Given the description of an element on the screen output the (x, y) to click on. 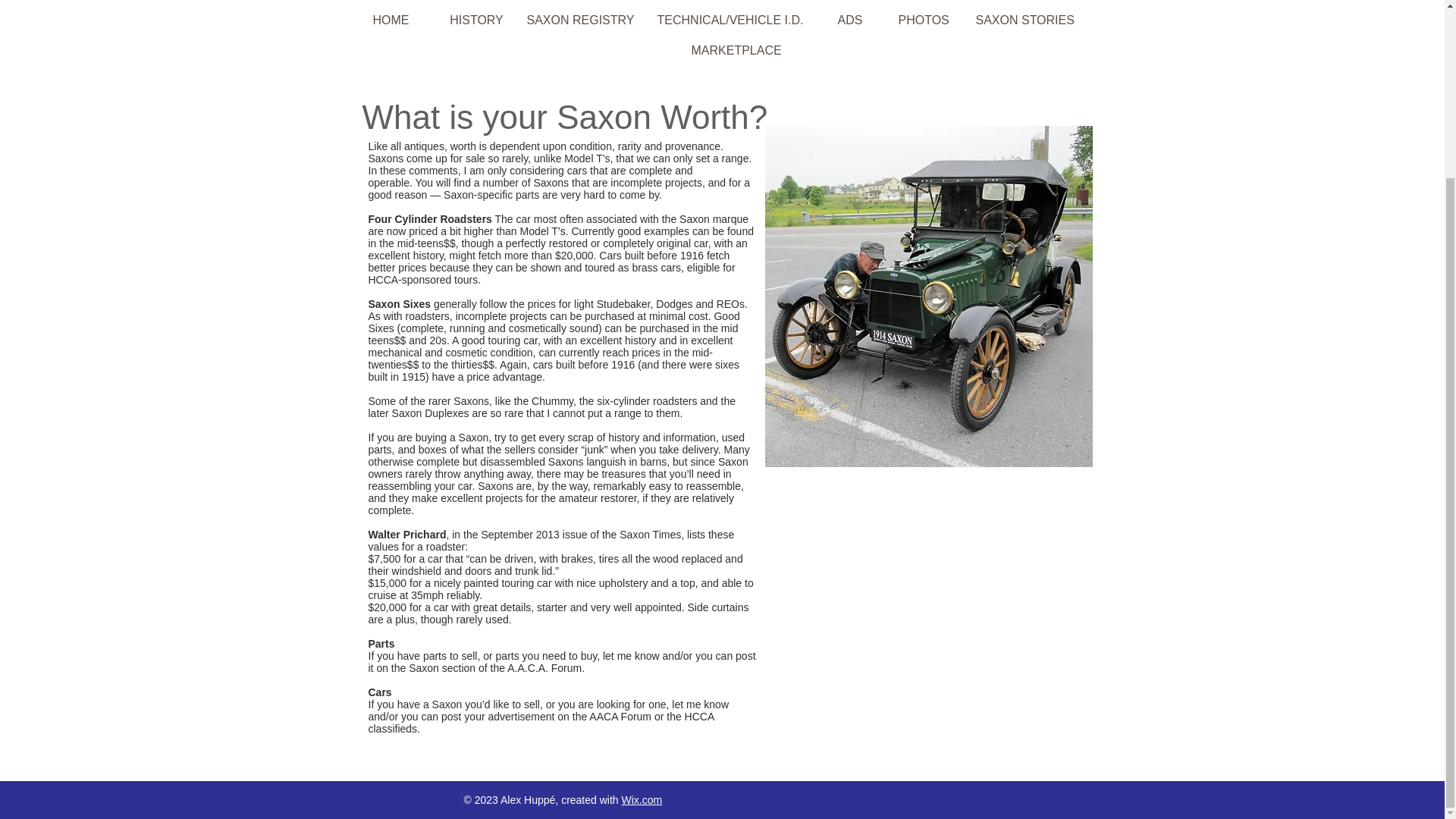
Wix.com (641, 799)
reated with (593, 799)
HOME (390, 20)
PHOTOS (923, 20)
HISTORY (476, 20)
SAXON REGISTRY (579, 20)
MARKETPLACE (736, 51)
SAXON STORIES (1024, 20)
